Given the description of an element on the screen output the (x, y) to click on. 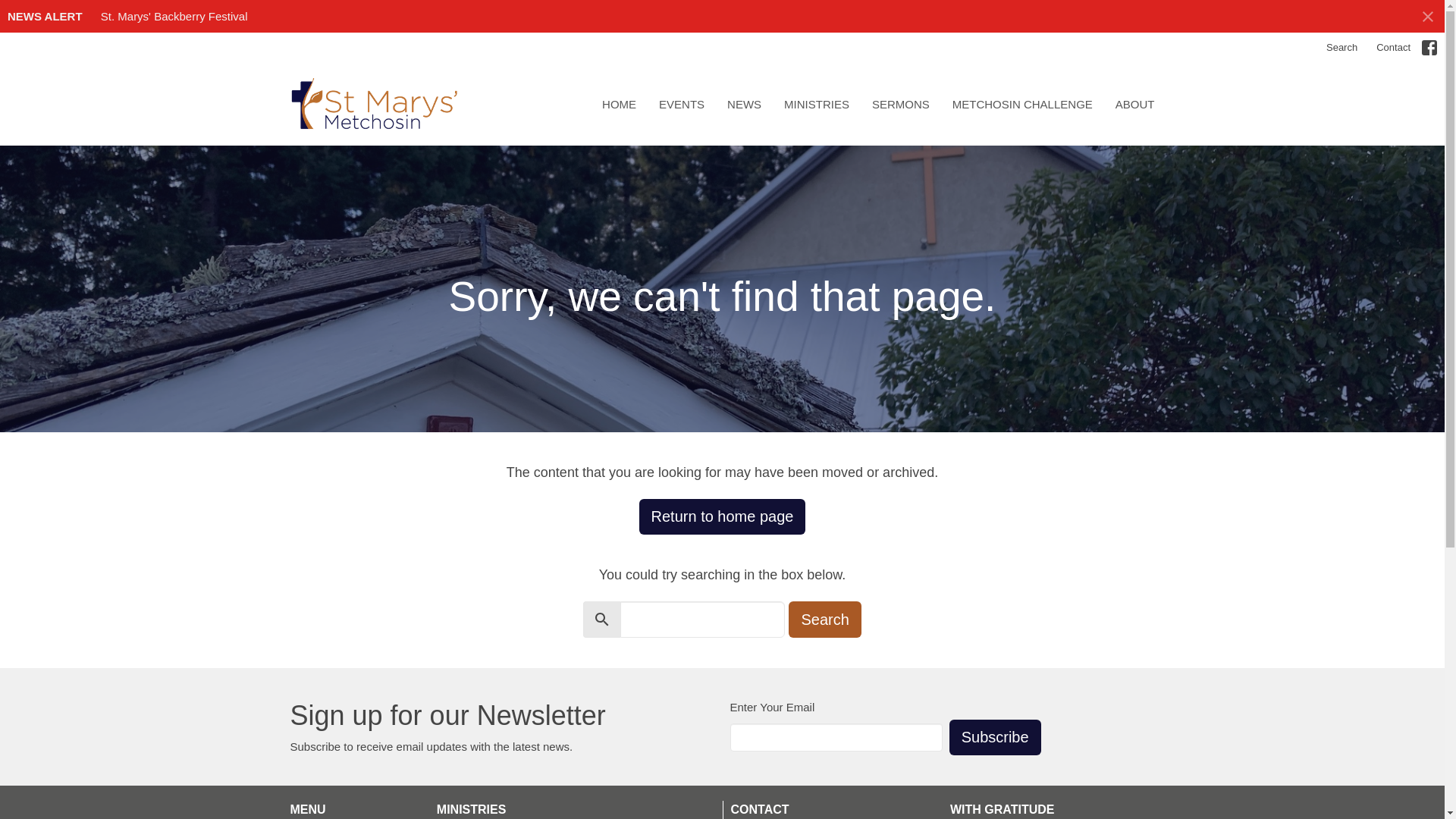
Search (824, 619)
MINISTRIES (471, 809)
HOME (619, 104)
Subscribe (995, 737)
Contact (1393, 47)
MINISTRIES (816, 104)
Search (1342, 47)
St. Marys' Backberry Festival (173, 15)
EVENTS (681, 104)
SERMONS (901, 104)
